Given the description of an element on the screen output the (x, y) to click on. 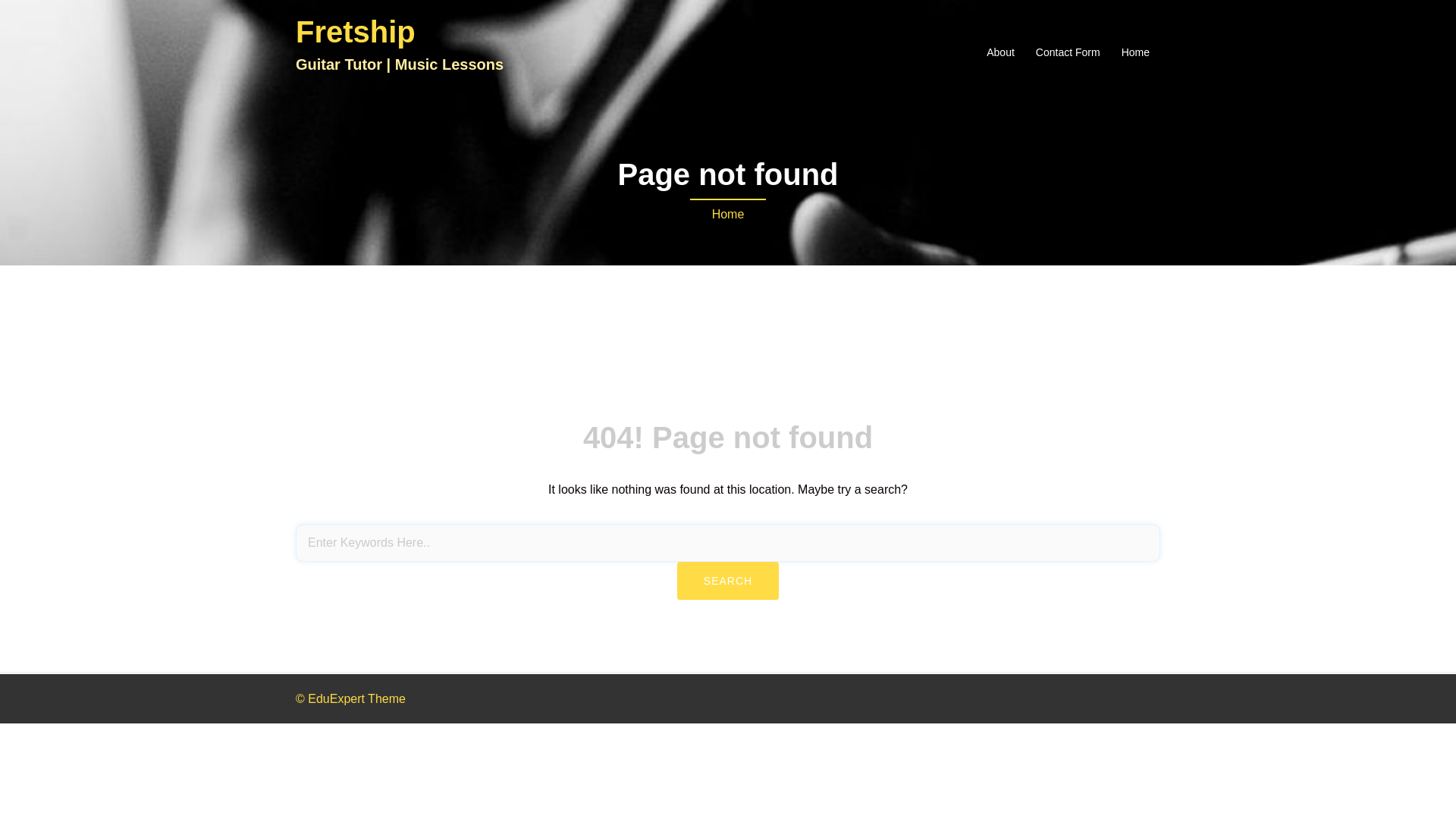
Search Element type: text (727, 580)
Fretship Element type: text (355, 31)
About Element type: text (1000, 52)
Home Element type: text (1135, 52)
Contact Form Element type: text (1067, 52)
Home Element type: text (728, 213)
